Given the description of an element on the screen output the (x, y) to click on. 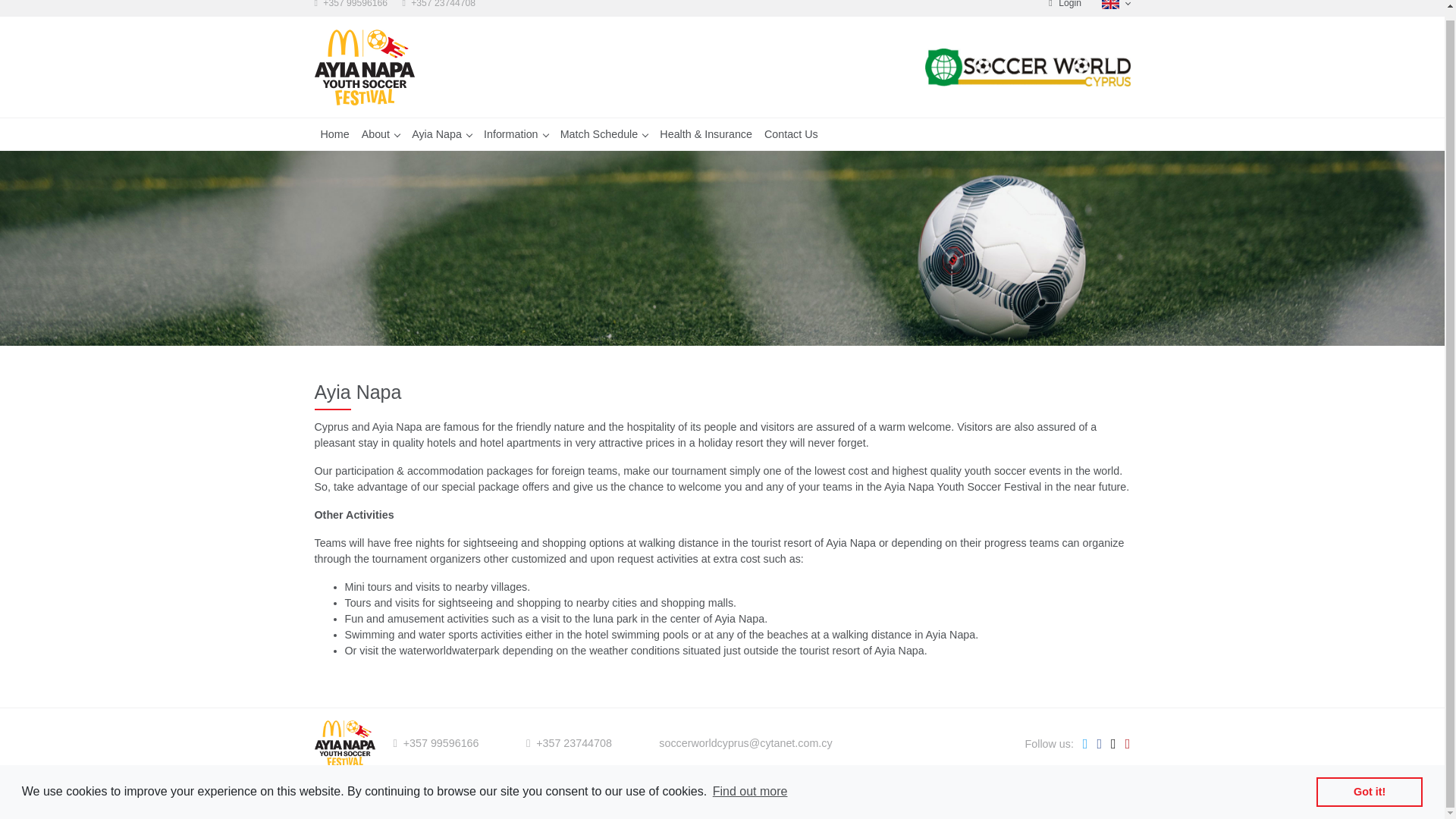
Ayia Napa (441, 133)
Find out more (750, 782)
Information (515, 133)
Home (334, 133)
Match Schedule (603, 133)
Login (1063, 4)
Got it! (1369, 782)
About (380, 133)
